Given the description of an element on the screen output the (x, y) to click on. 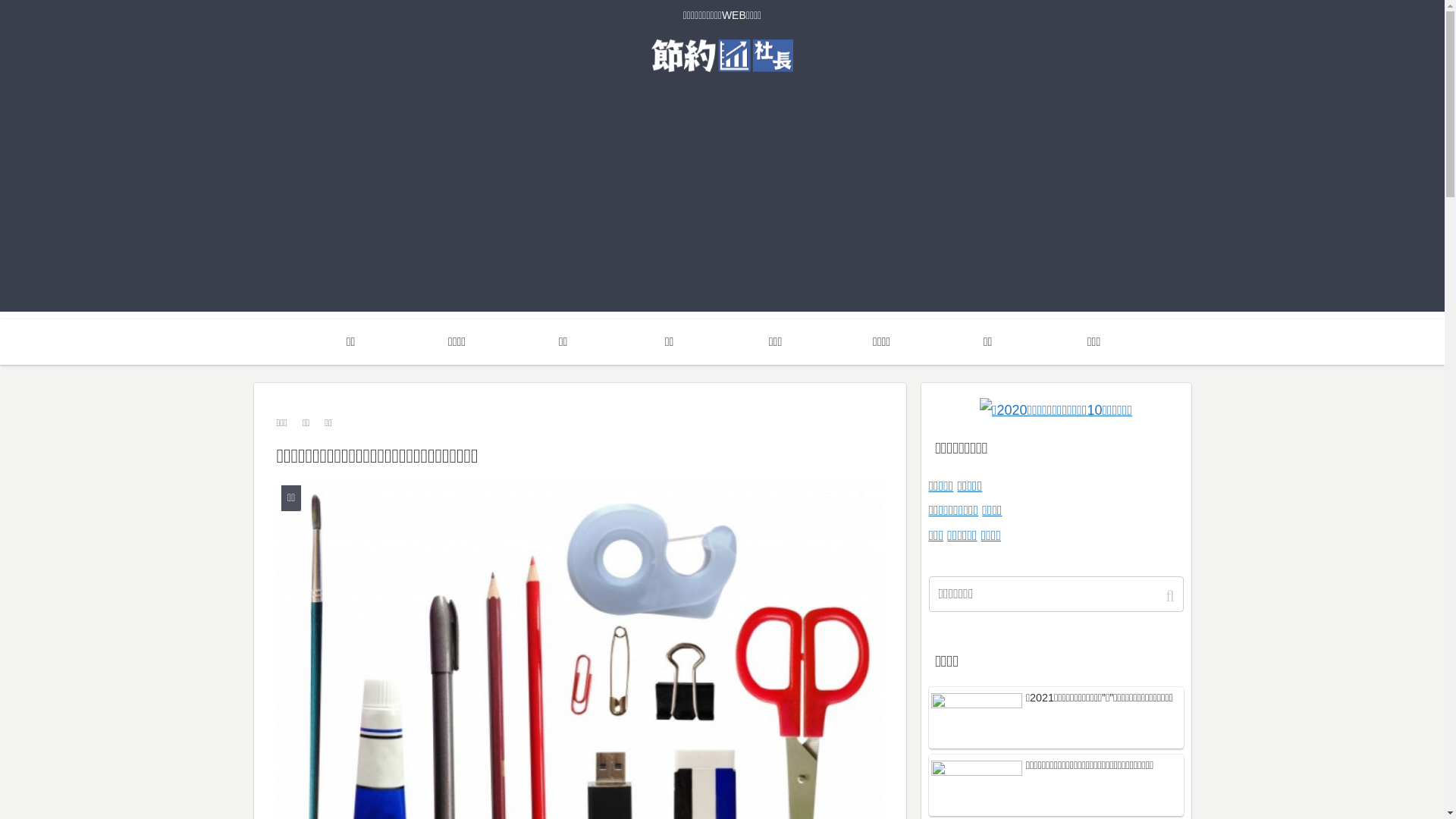
Advertisement Element type: hover (721, 205)
